Given the description of an element on the screen output the (x, y) to click on. 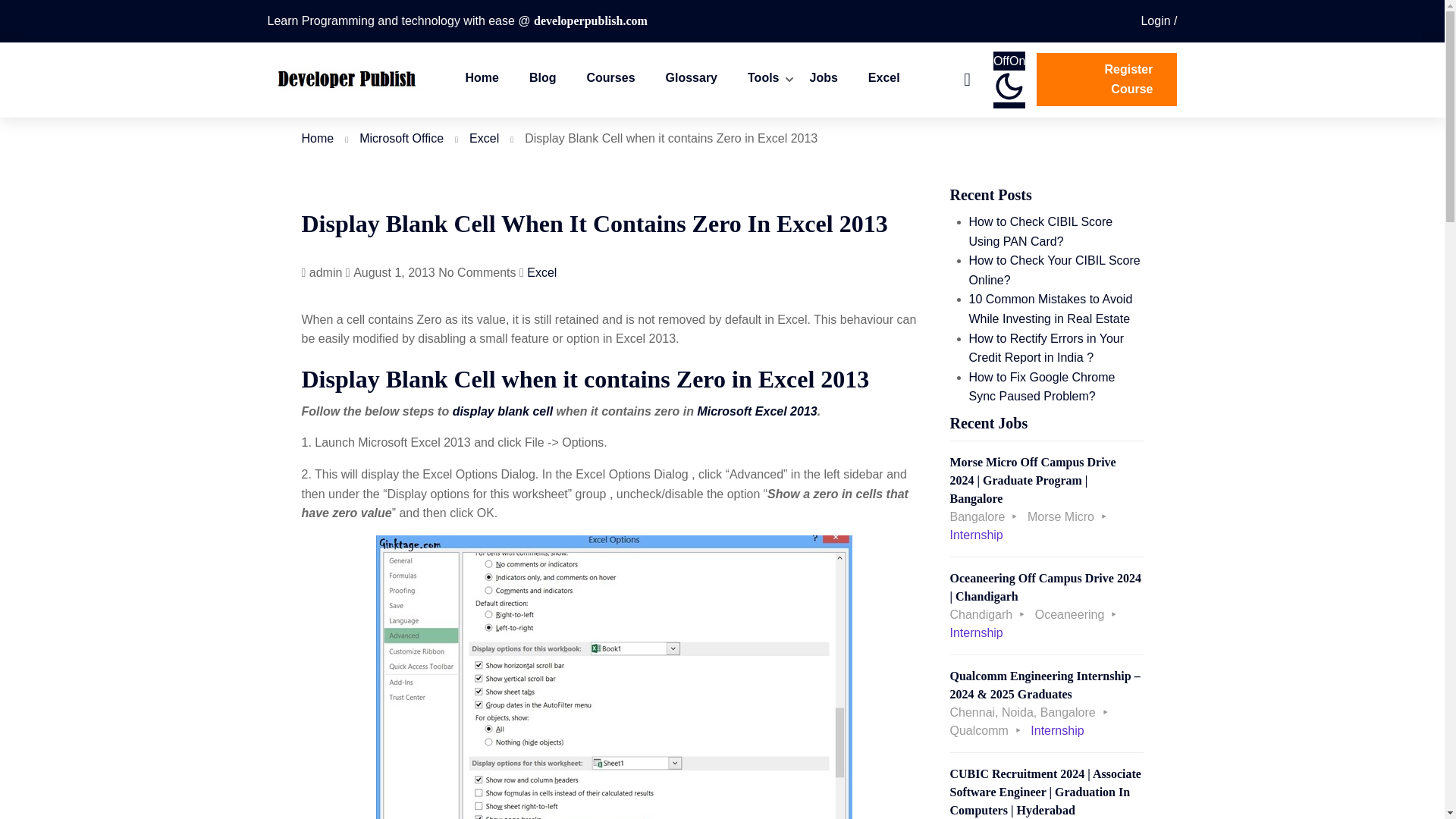
Excel (483, 137)
Jobs (822, 80)
developerpublish.com (590, 20)
Microsoft Office (401, 137)
How to Check Your CIBIL Score Online? (1054, 269)
Excel (884, 80)
How to Check CIBIL Score Using PAN Card? (1041, 231)
Login (1158, 20)
Courses (610, 80)
Register Course (1106, 79)
